Given the description of an element on the screen output the (x, y) to click on. 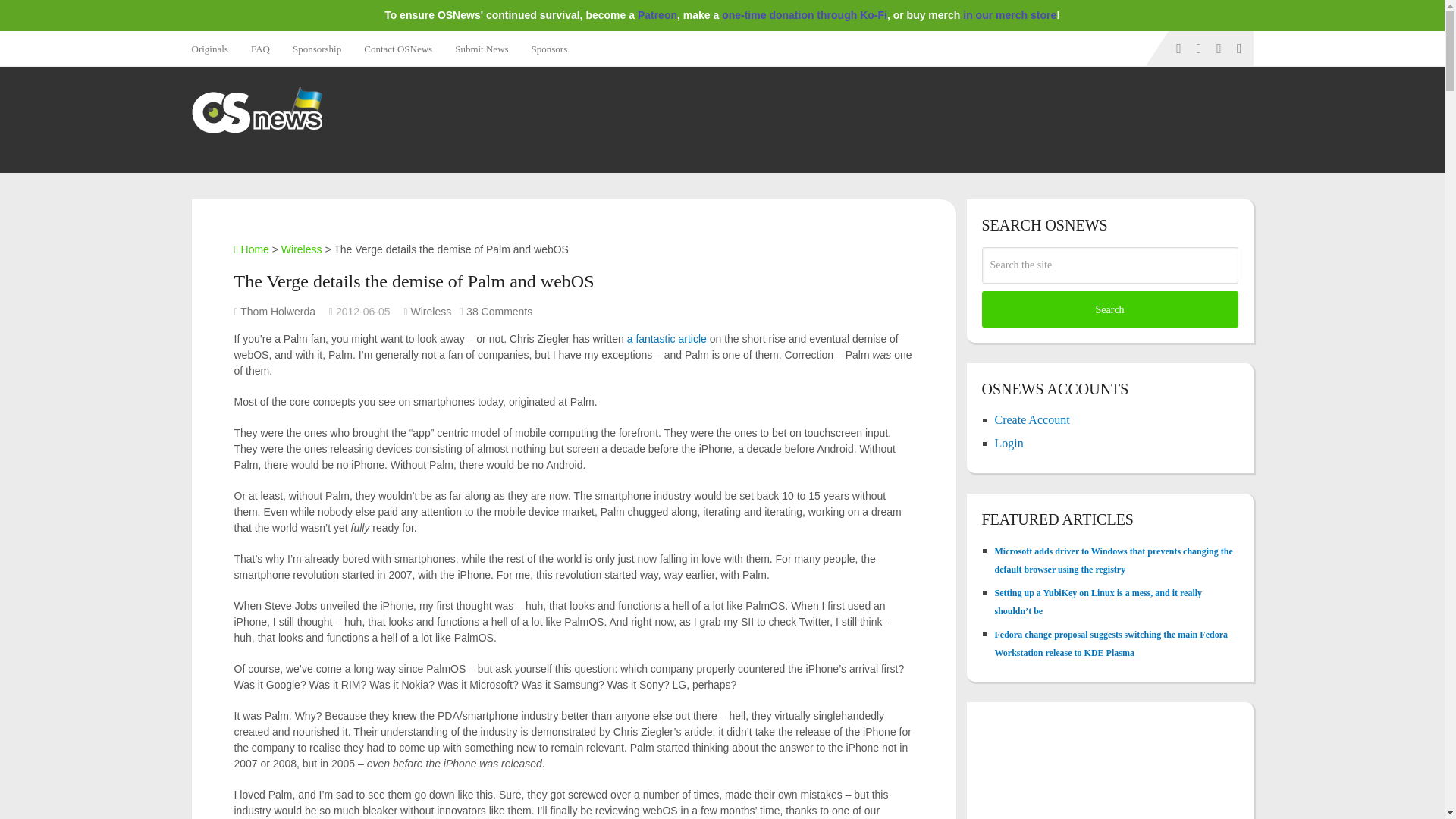
FAQ (260, 48)
38 Comments (498, 311)
Thom Holwerda (277, 311)
View all posts in Wireless (430, 311)
Wireless (430, 311)
Search (1109, 309)
Submit News (481, 48)
Posts by Thom Holwerda (277, 311)
Sponsors (549, 48)
Patreon (657, 15)
 Home (249, 249)
Sponsorship (316, 48)
in our merch store (1009, 15)
a fantastic article (666, 338)
Contact OSNews (398, 48)
